Given the description of an element on the screen output the (x, y) to click on. 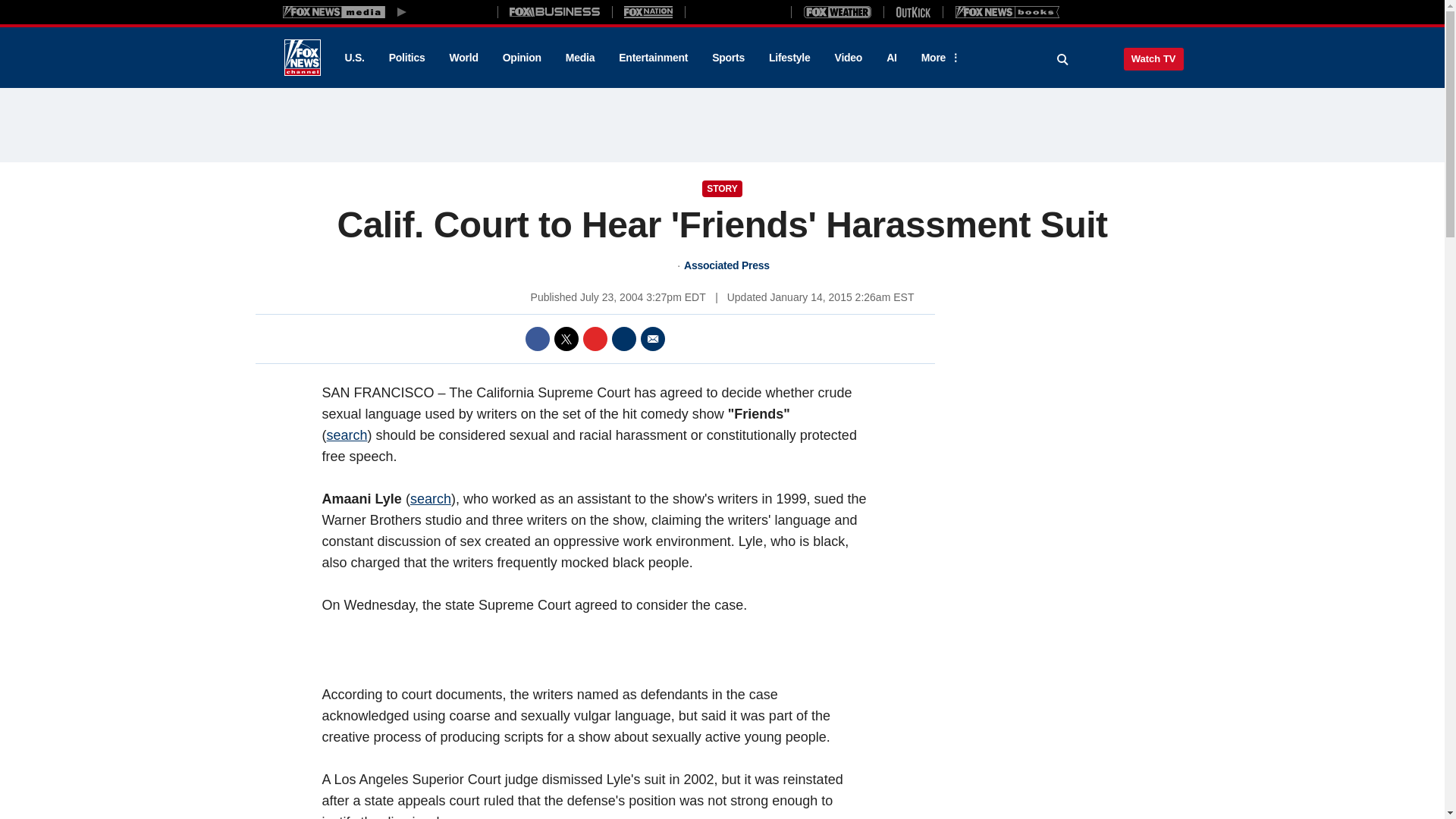
More (938, 57)
Watch TV (1153, 58)
Entertainment (653, 57)
AI (891, 57)
World (464, 57)
Fox Weather (836, 11)
Lifestyle (789, 57)
Fox News (301, 57)
Outkick (912, 11)
Fox Nation (648, 11)
